Given the description of an element on the screen output the (x, y) to click on. 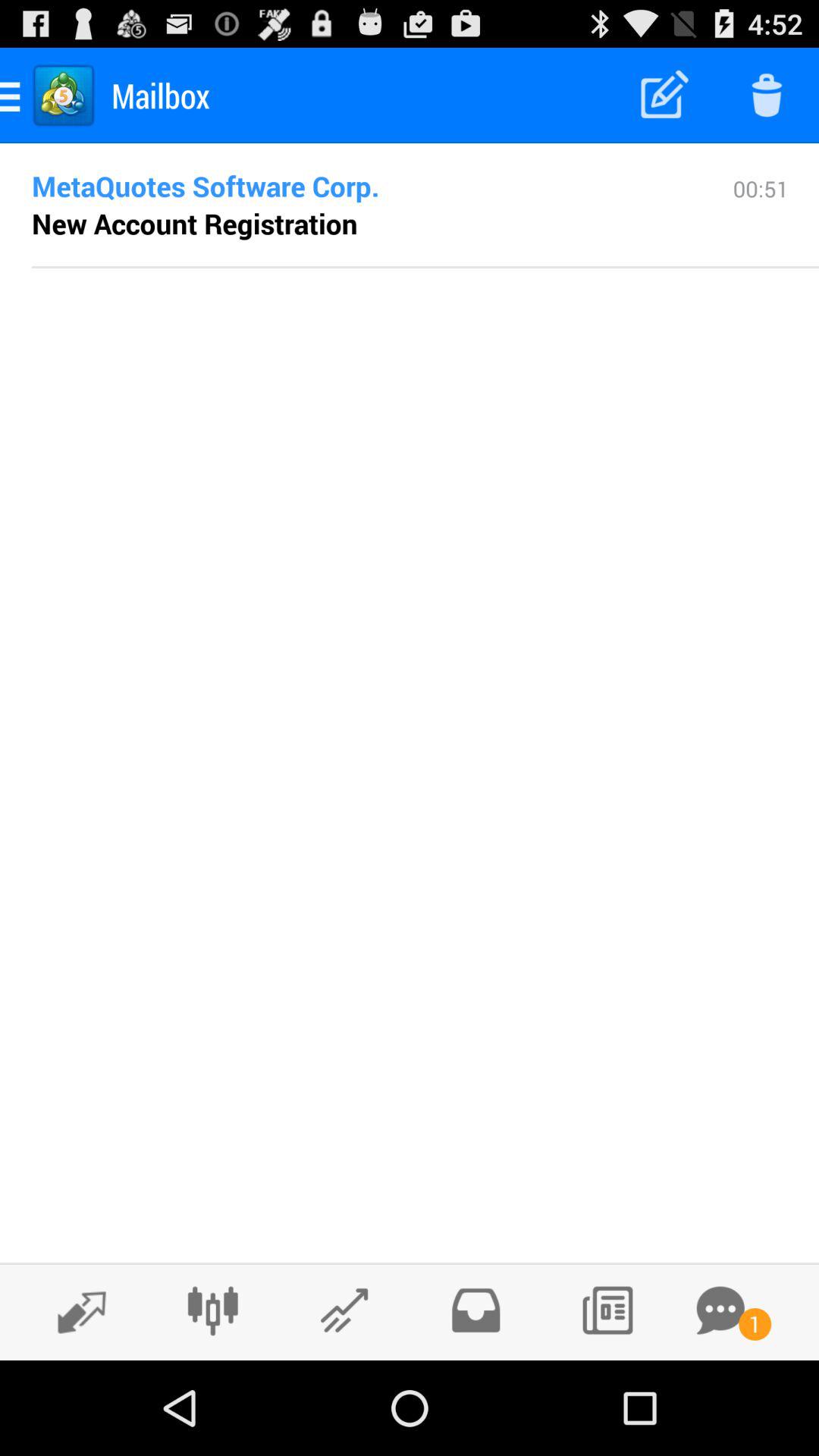
message option (720, 1310)
